Given the description of an element on the screen output the (x, y) to click on. 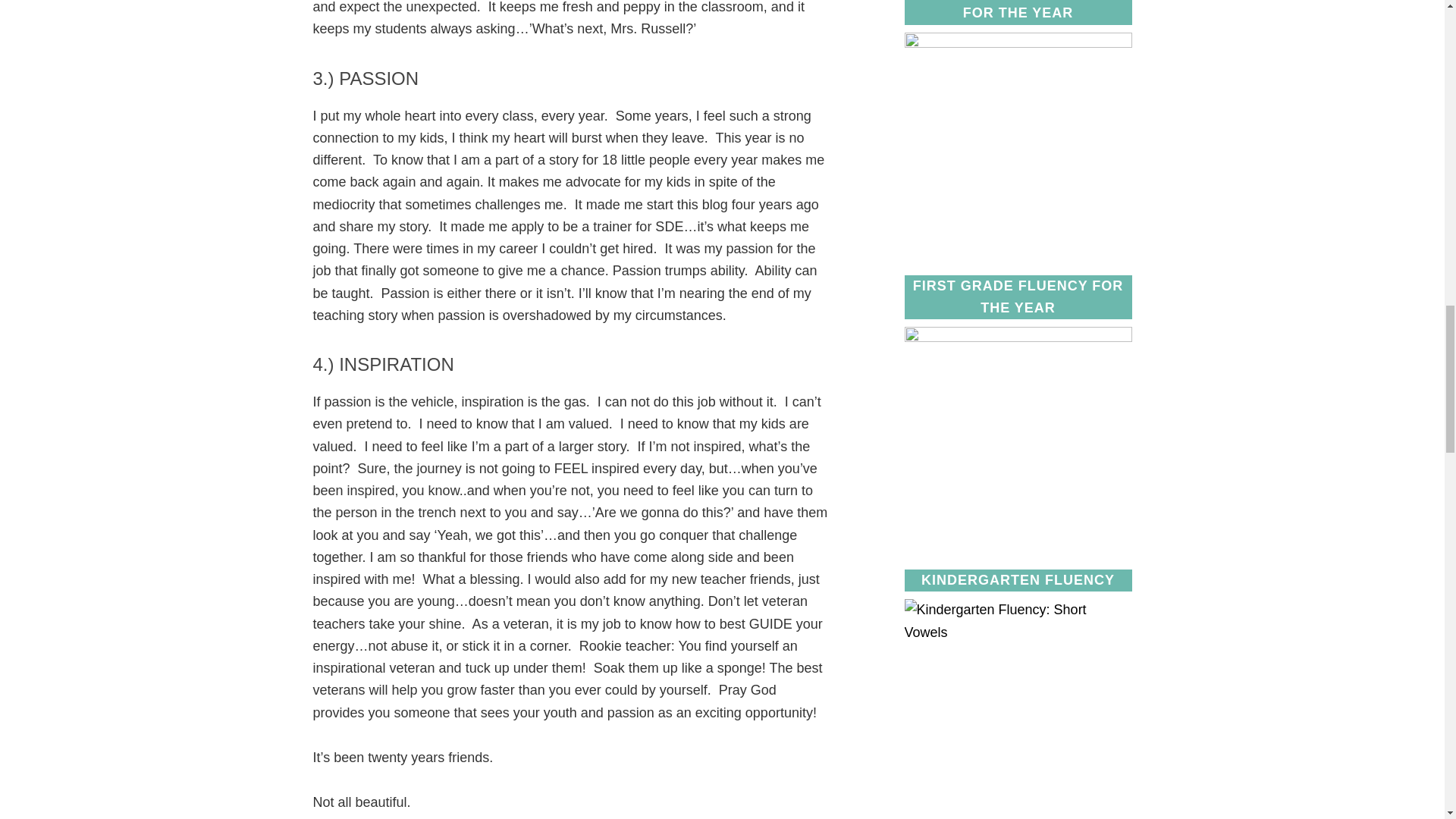
Kindergarten Fluency: Short Vowels (1017, 708)
